Given the description of an element on the screen output the (x, y) to click on. 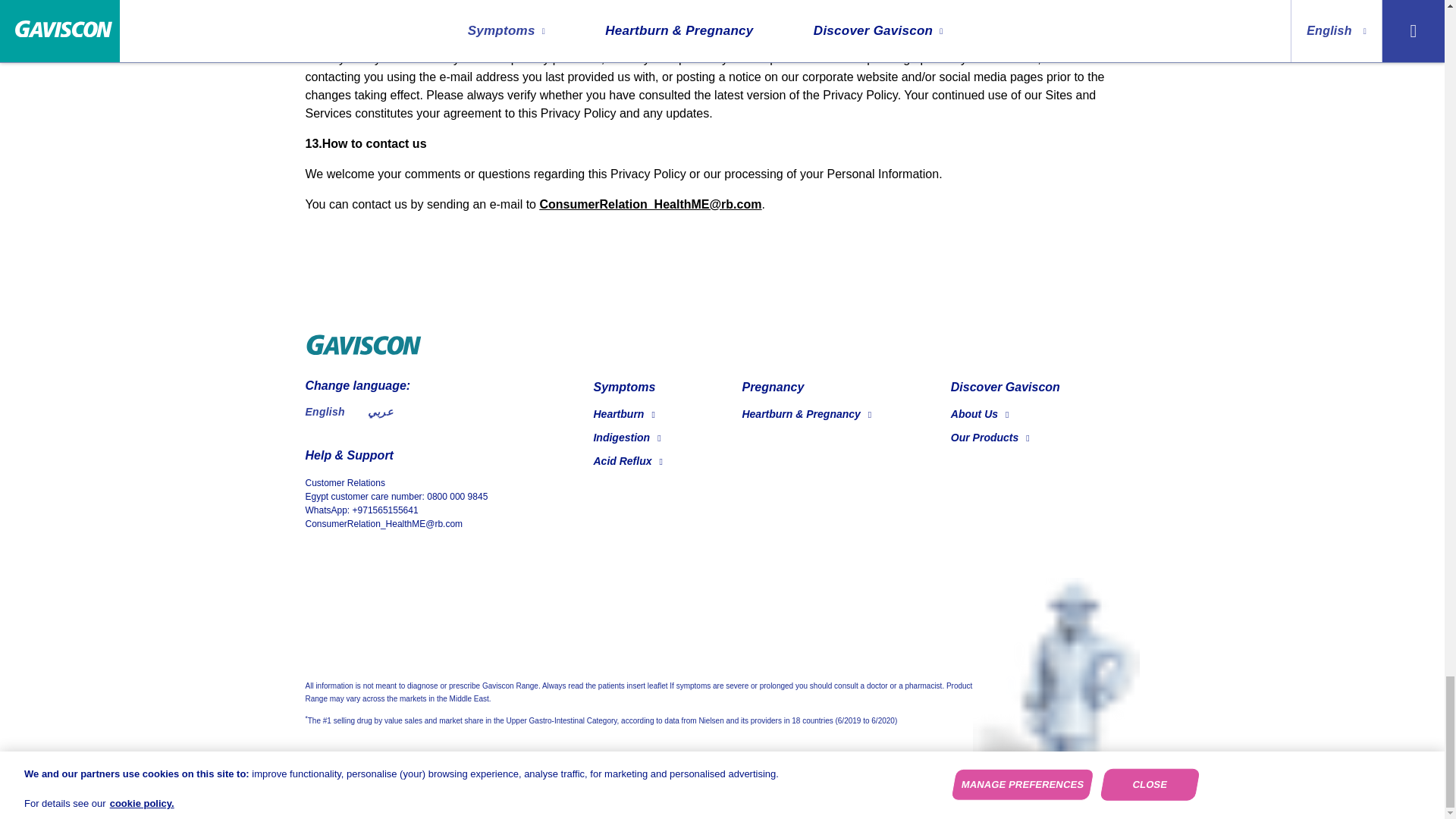
English (323, 411)
Heartburn (622, 413)
Discover Gaviscon (1004, 386)
About Us (979, 413)
Terms and Conditions (1082, 787)
Acid Reflux (627, 460)
Cookie Policy (829, 787)
Our Products (989, 437)
Privacy Policy (945, 787)
Indigestion (626, 437)
